Given the description of an element on the screen output the (x, y) to click on. 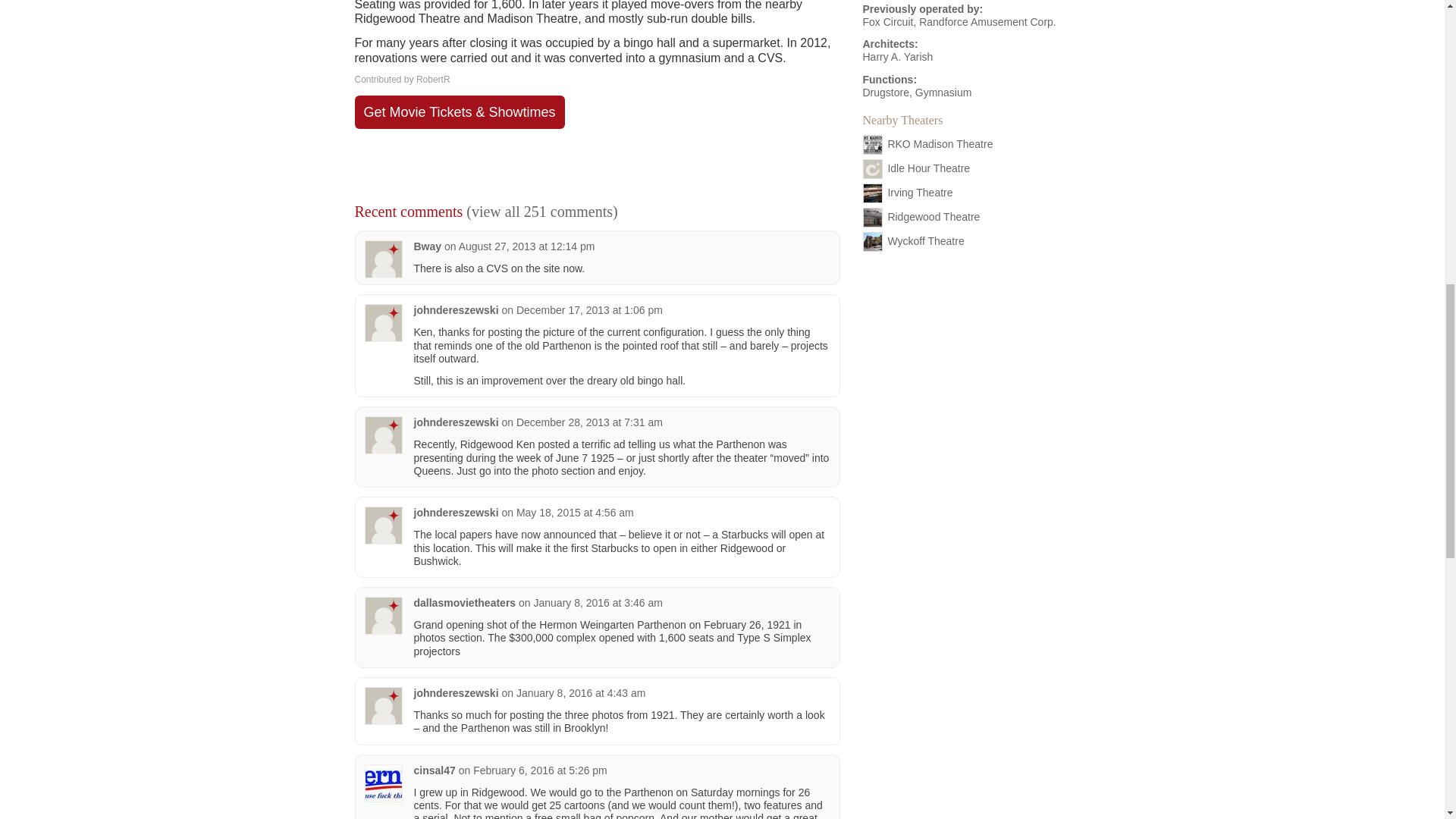
Irving Theatre (919, 191)
Wyckoff Theatre (924, 240)
Gymnasium (943, 92)
RKO Madison Theatre (939, 143)
Harry A. Yarish (898, 56)
Ridgewood Theatre (932, 215)
Fox Circuit (888, 21)
Randforce Amusement Corp. (987, 21)
Idle Hour Theatre (927, 167)
Drugstore (885, 92)
